Given the description of an element on the screen output the (x, y) to click on. 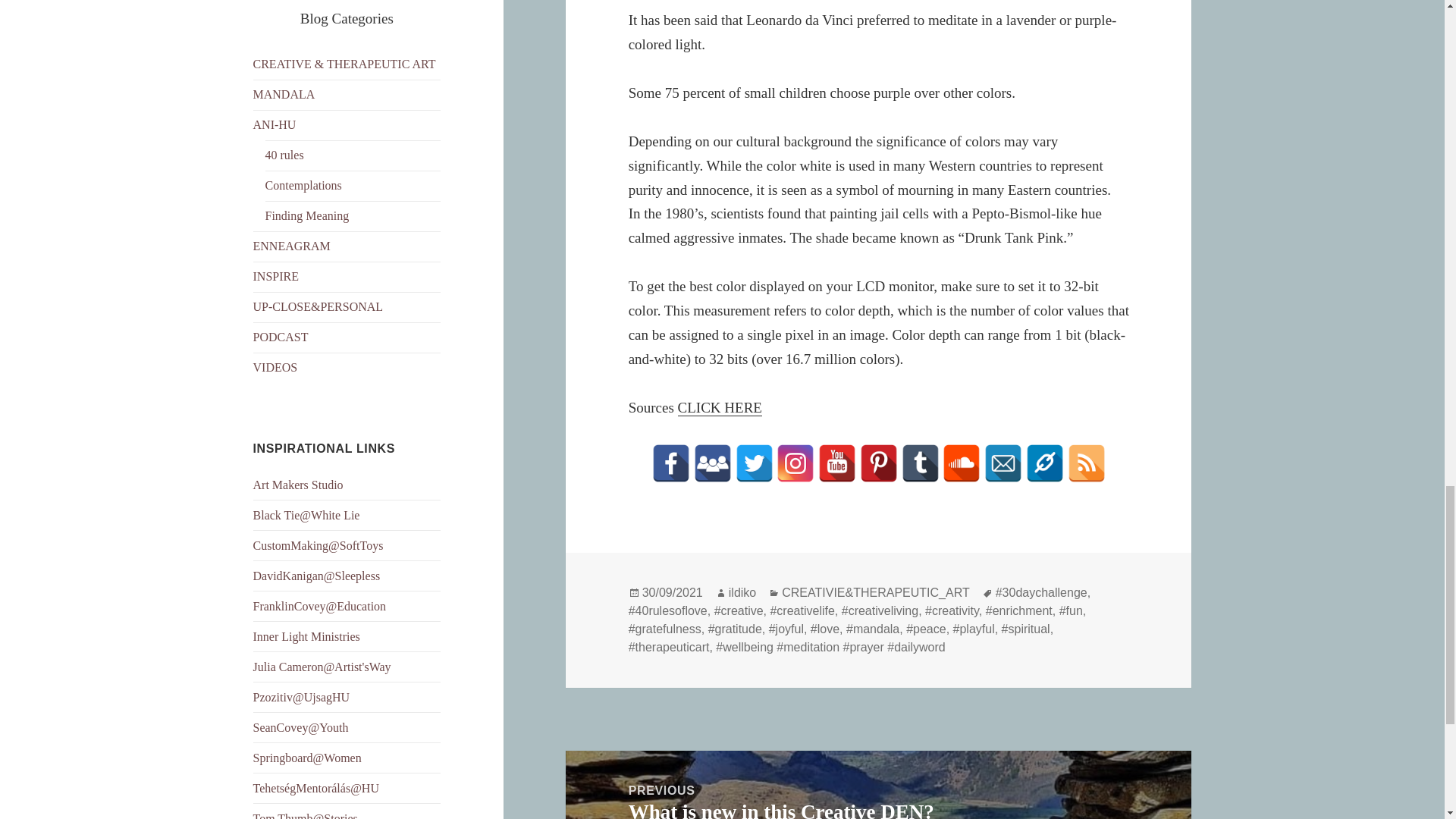
RSS Feed (1086, 463)
SoundCloud (960, 463)
Twitter (754, 463)
Pinterest (879, 463)
Personal website (1045, 463)
Email (1003, 463)
MANDALA (284, 93)
Facebook (671, 463)
Instagram (794, 463)
Facebook Group (713, 463)
